Given the description of an element on the screen output the (x, y) to click on. 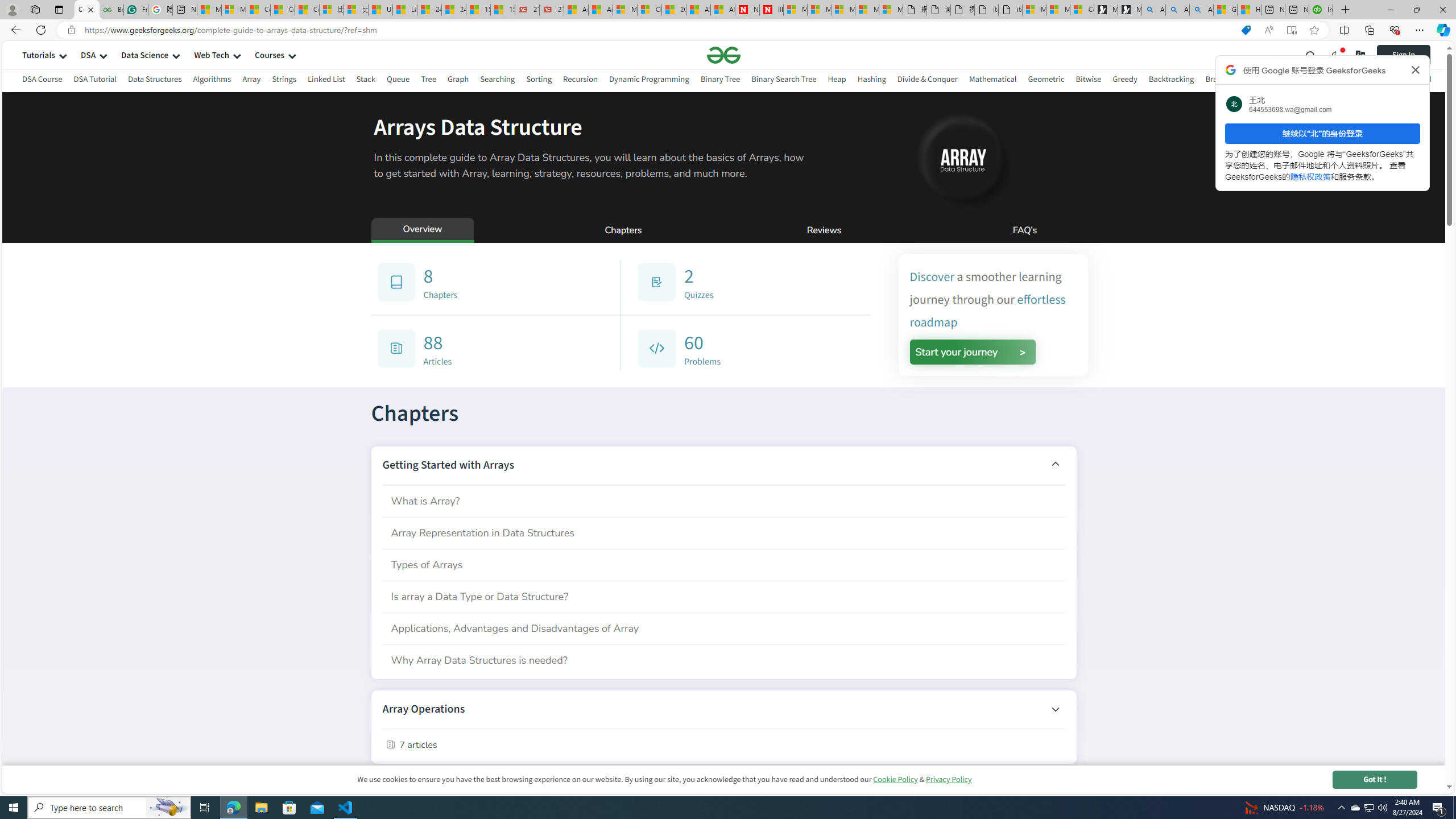
DSA (88, 55)
Courses (268, 55)
DSA Course (42, 80)
Branch and Bound (1237, 79)
Intuit QuickBooks Online - Quickbooks (1321, 9)
Algorithms (212, 80)
Sorting (538, 79)
Stack (365, 80)
Greedy (1124, 79)
Strings (283, 79)
